Given the description of an element on the screen output the (x, y) to click on. 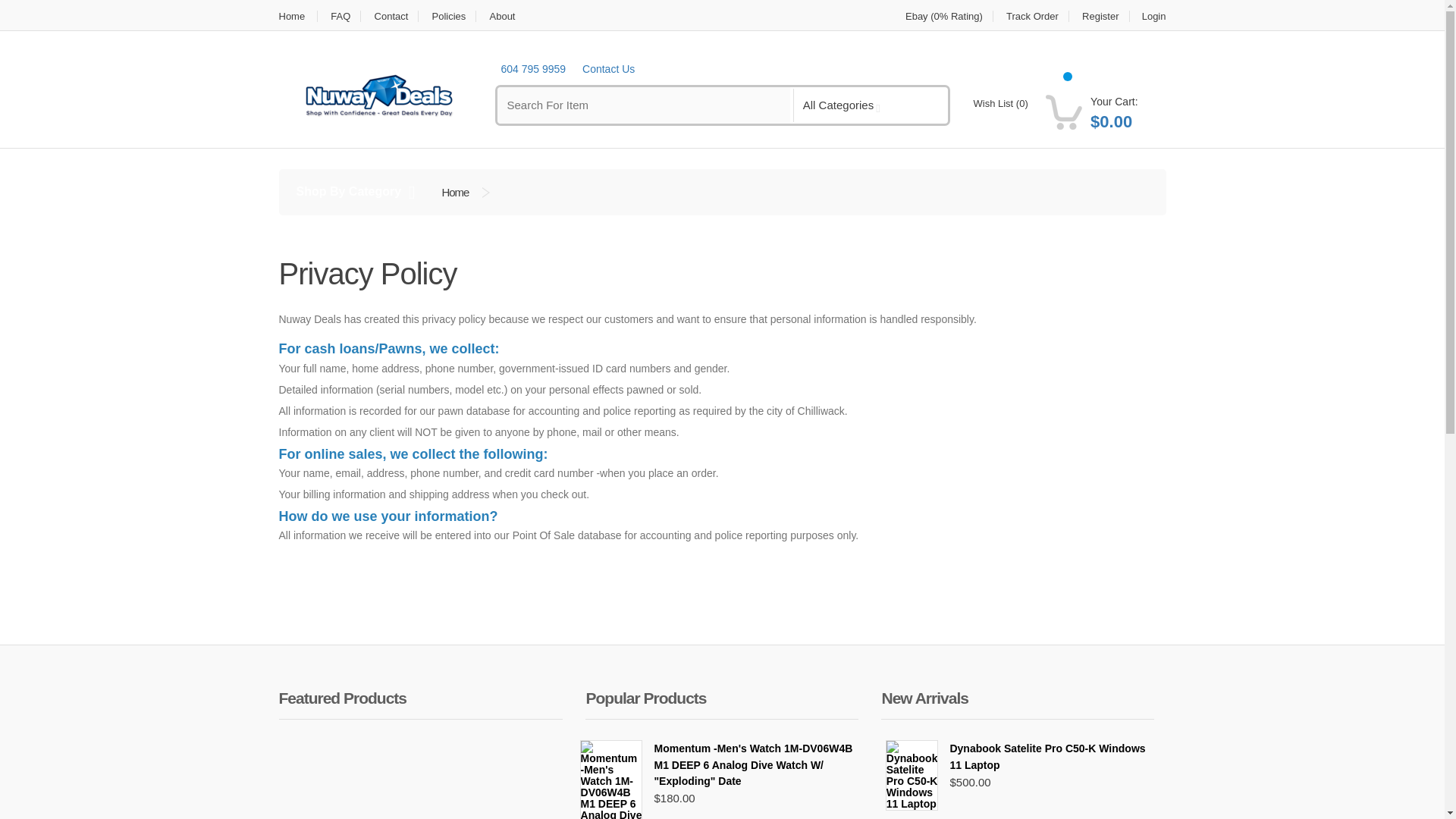
Contact Us (608, 69)
Register (1100, 16)
Track Order (1031, 16)
Policies (449, 16)
FAQ (340, 16)
Login (1149, 16)
604 795 9959 (533, 69)
Home (298, 16)
About (501, 16)
All Categories (845, 104)
Home (454, 191)
Contact (392, 16)
Shop By Category (353, 191)
